Given the description of an element on the screen output the (x, y) to click on. 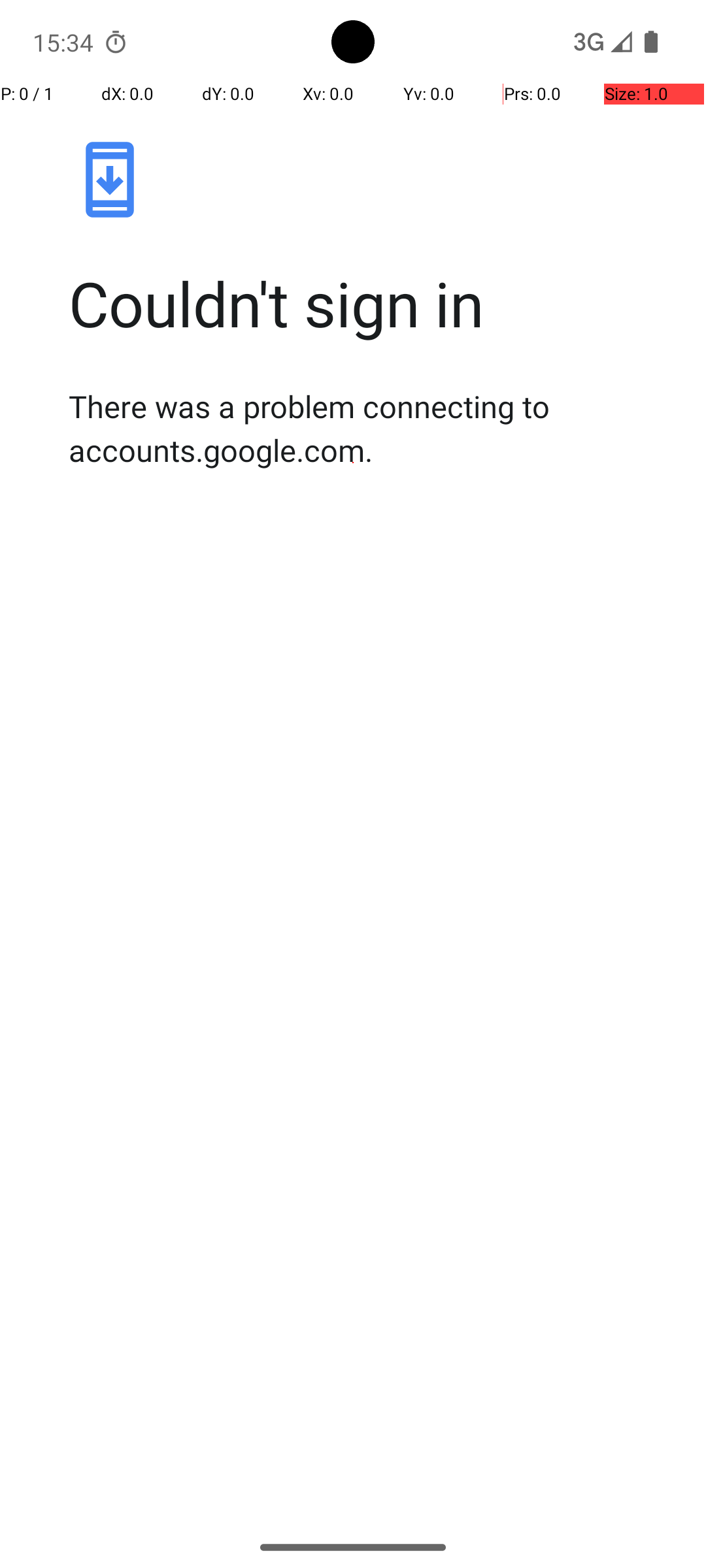
There was a problem connecting to accounts.google.com. Element type: android.widget.TextView (366, 427)
